Given the description of an element on the screen output the (x, y) to click on. 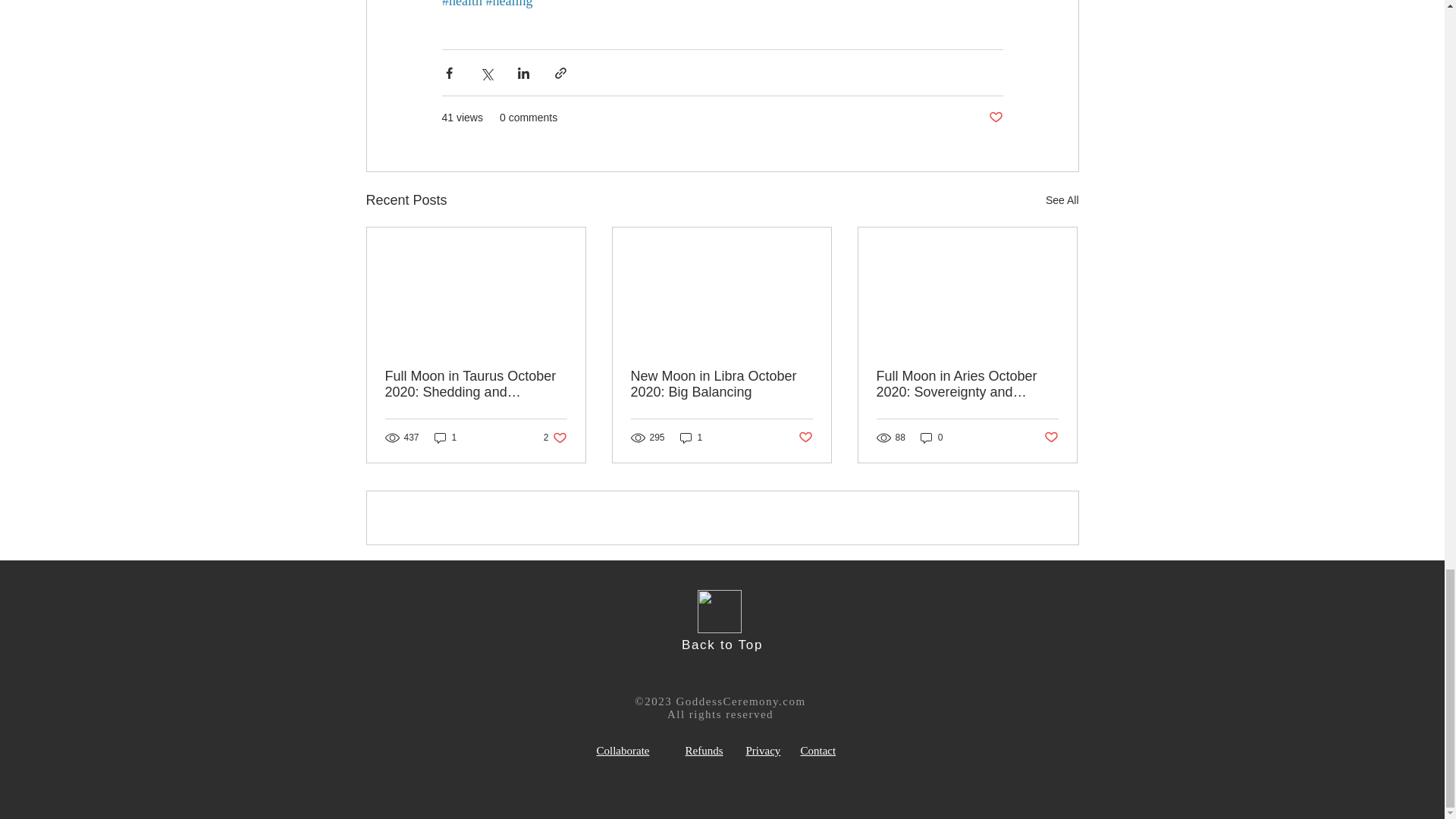
See All (1061, 200)
Post not marked as liked (995, 117)
